Given the description of an element on the screen output the (x, y) to click on. 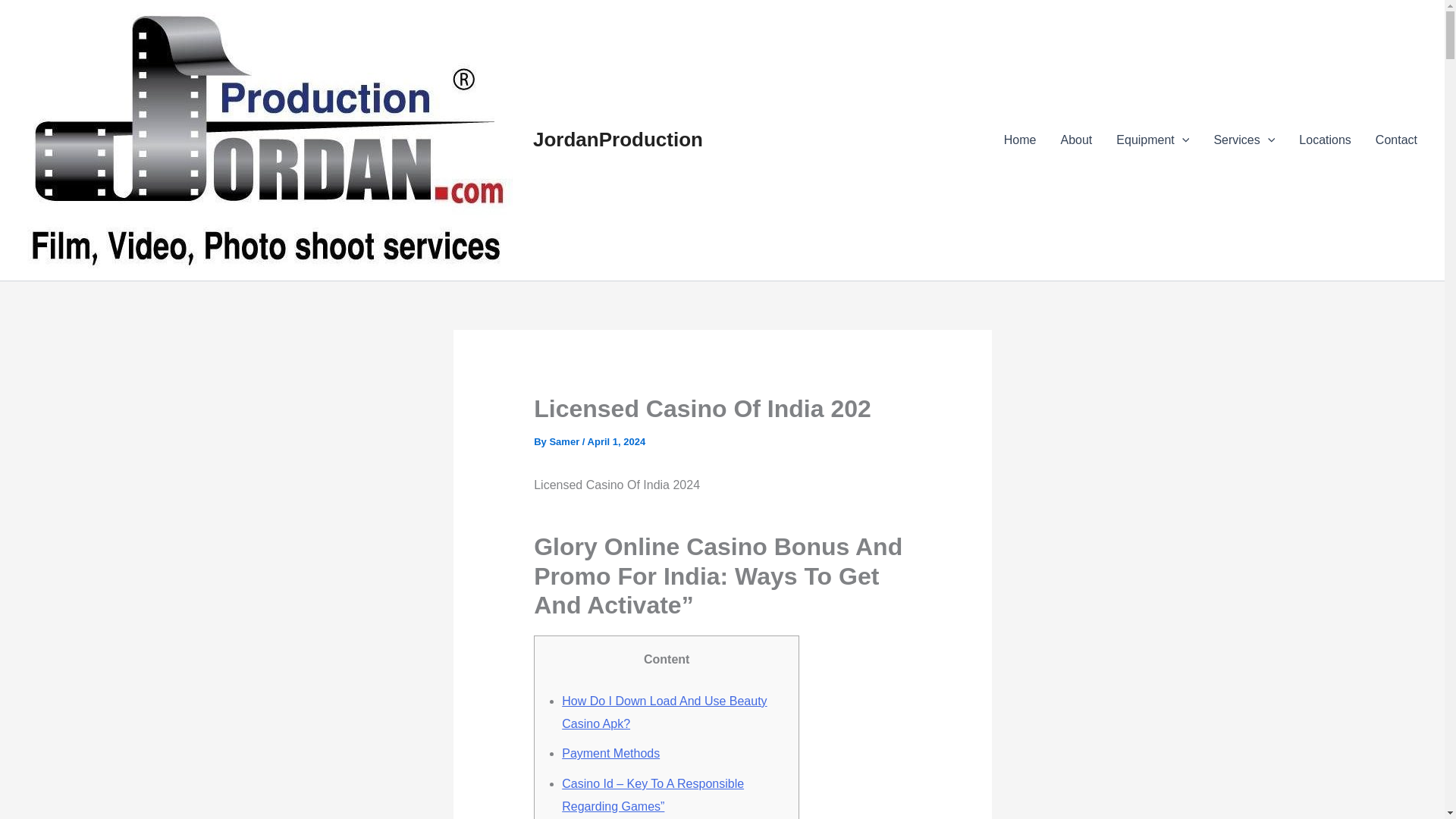
Locations (1324, 139)
JordanProduction (617, 138)
Services (1244, 139)
Contact (1395, 139)
About (1075, 139)
Equipment (1152, 139)
View all posts by Samer (564, 441)
Home (1019, 139)
